Given the description of an element on the screen output the (x, y) to click on. 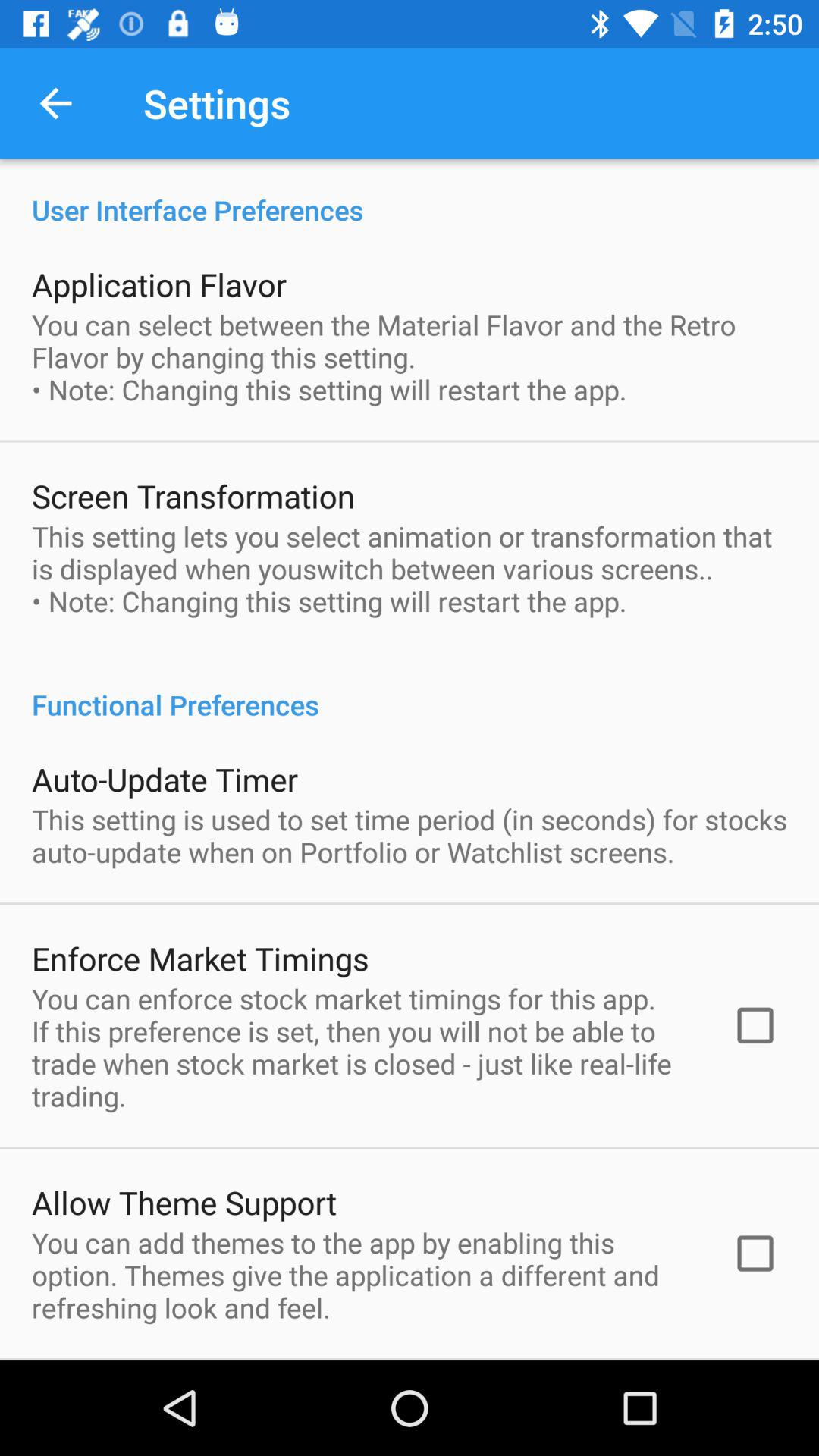
swipe to application flavor icon (158, 283)
